Given the description of an element on the screen output the (x, y) to click on. 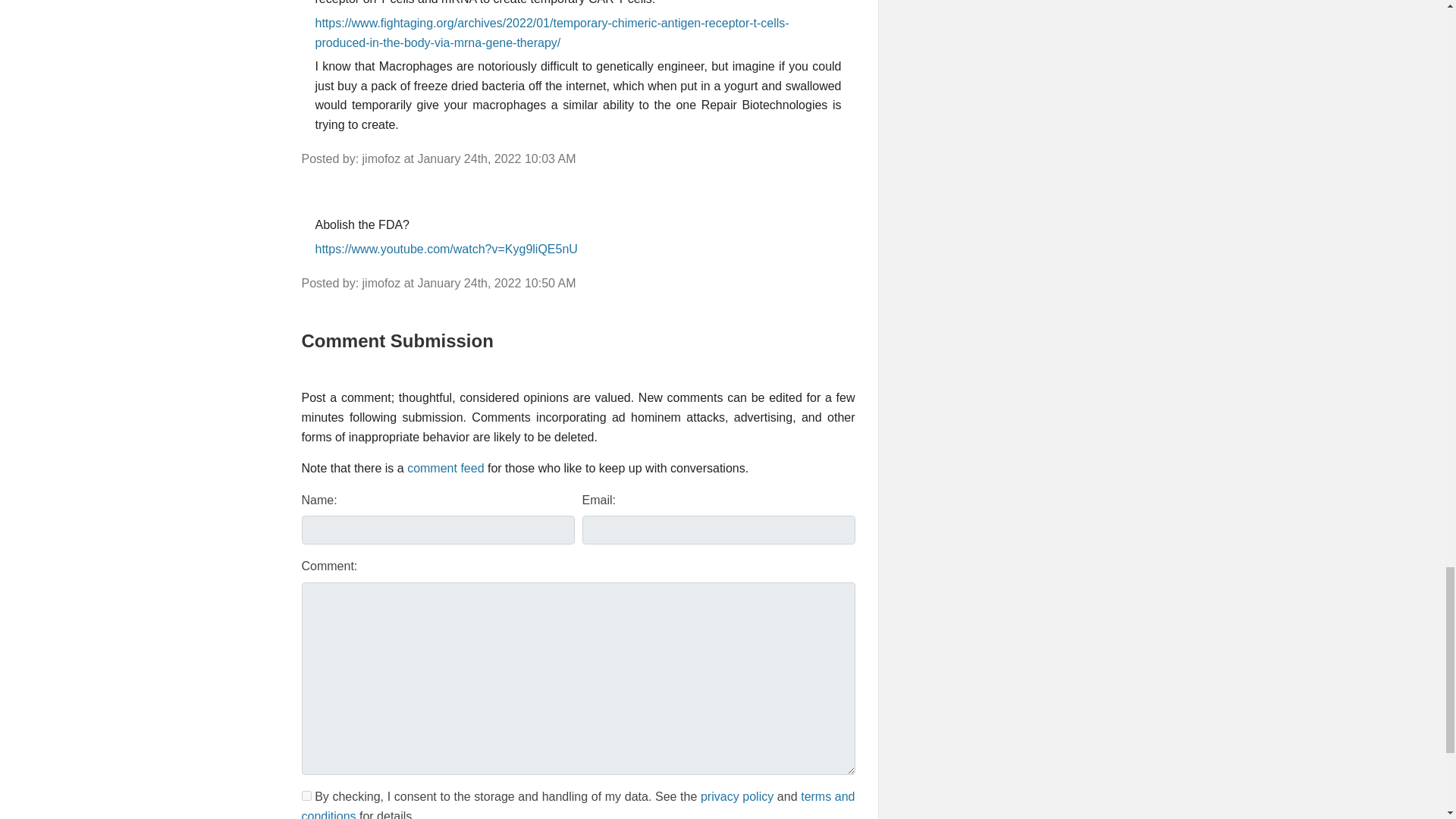
1 (306, 795)
